Given the description of an element on the screen output the (x, y) to click on. 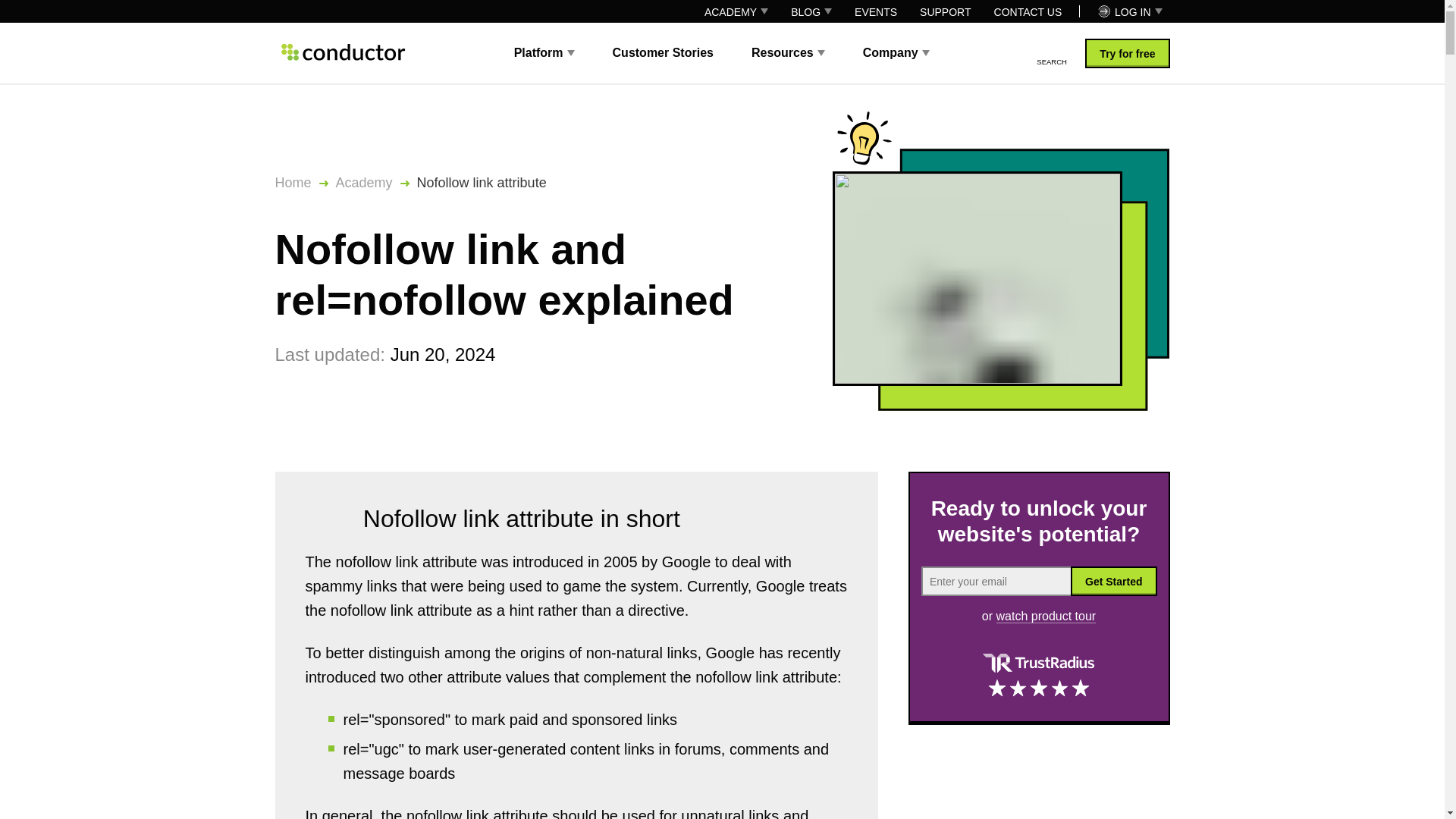
Thu, 20 Jun 2024 11:07:29 GMT (443, 353)
Platform (544, 52)
ACADEMY (736, 11)
Resources (788, 52)
Customer Stories (662, 52)
Company (895, 52)
